Given the description of an element on the screen output the (x, y) to click on. 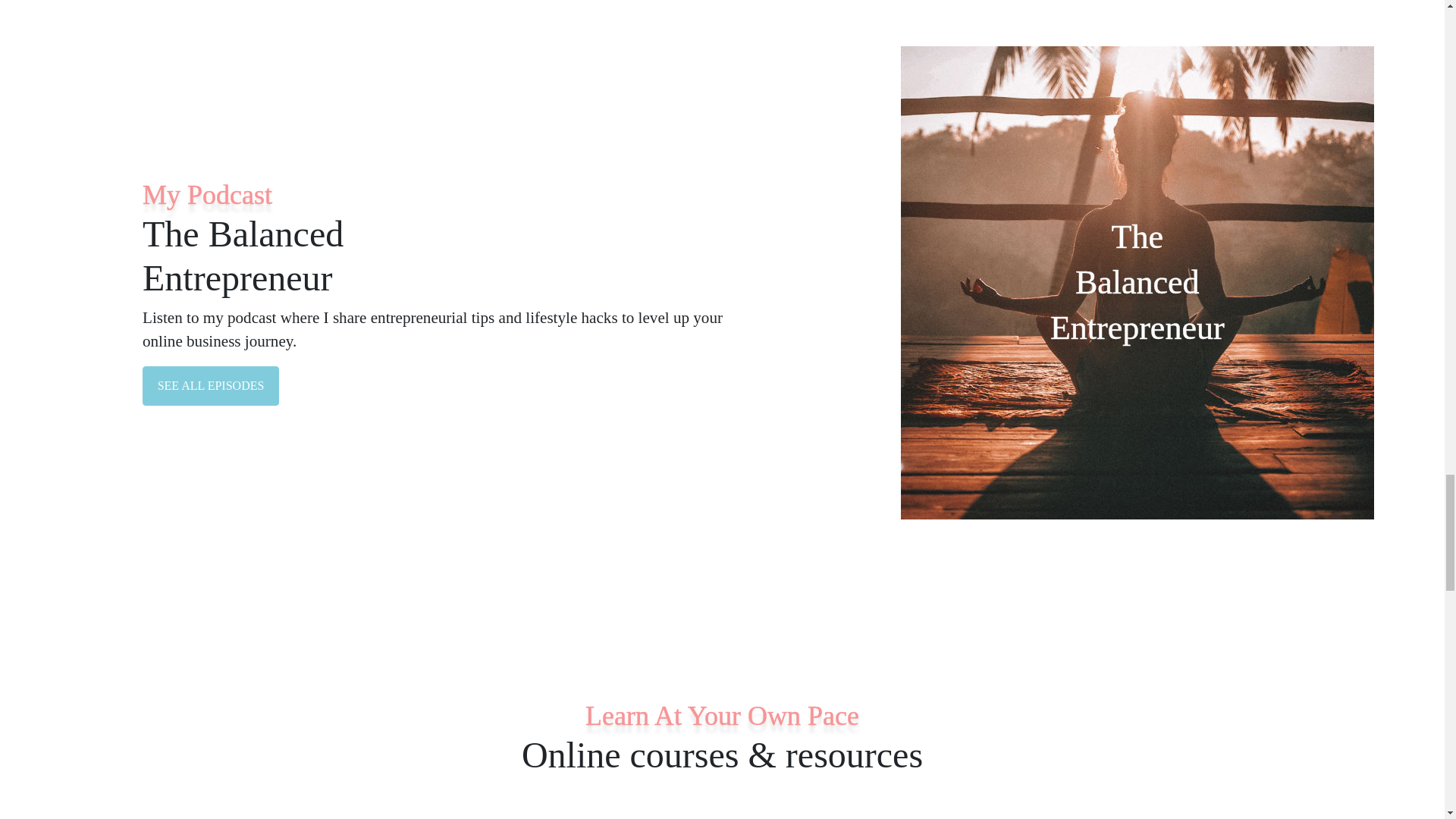
SEE ALL EPISODES (210, 385)
SEE ALL EPISODES (210, 385)
